Given the description of an element on the screen output the (x, y) to click on. 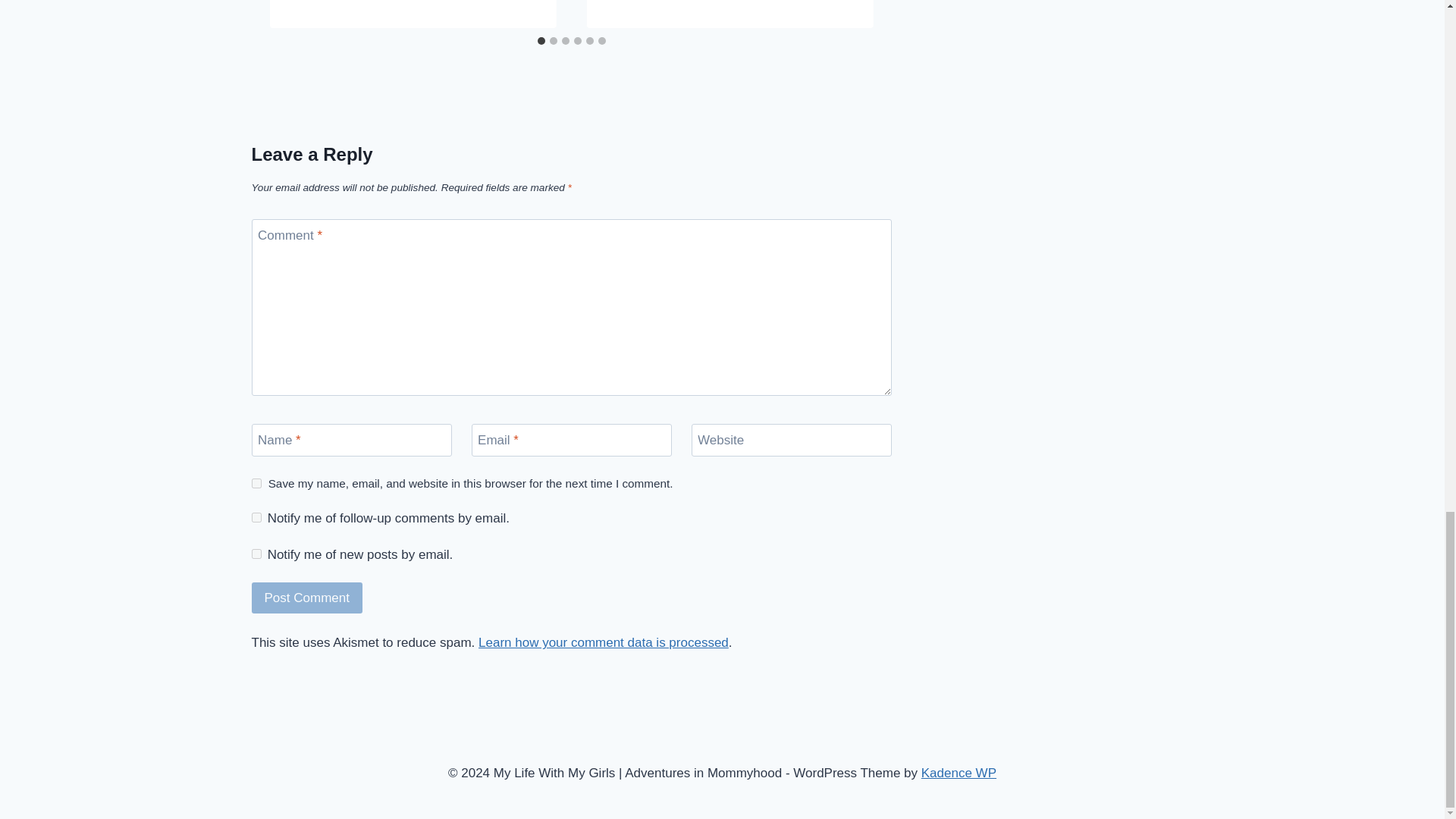
subscribe (256, 553)
Post Comment (306, 597)
subscribe (256, 517)
yes (256, 483)
